Given the description of an element on the screen output the (x, y) to click on. 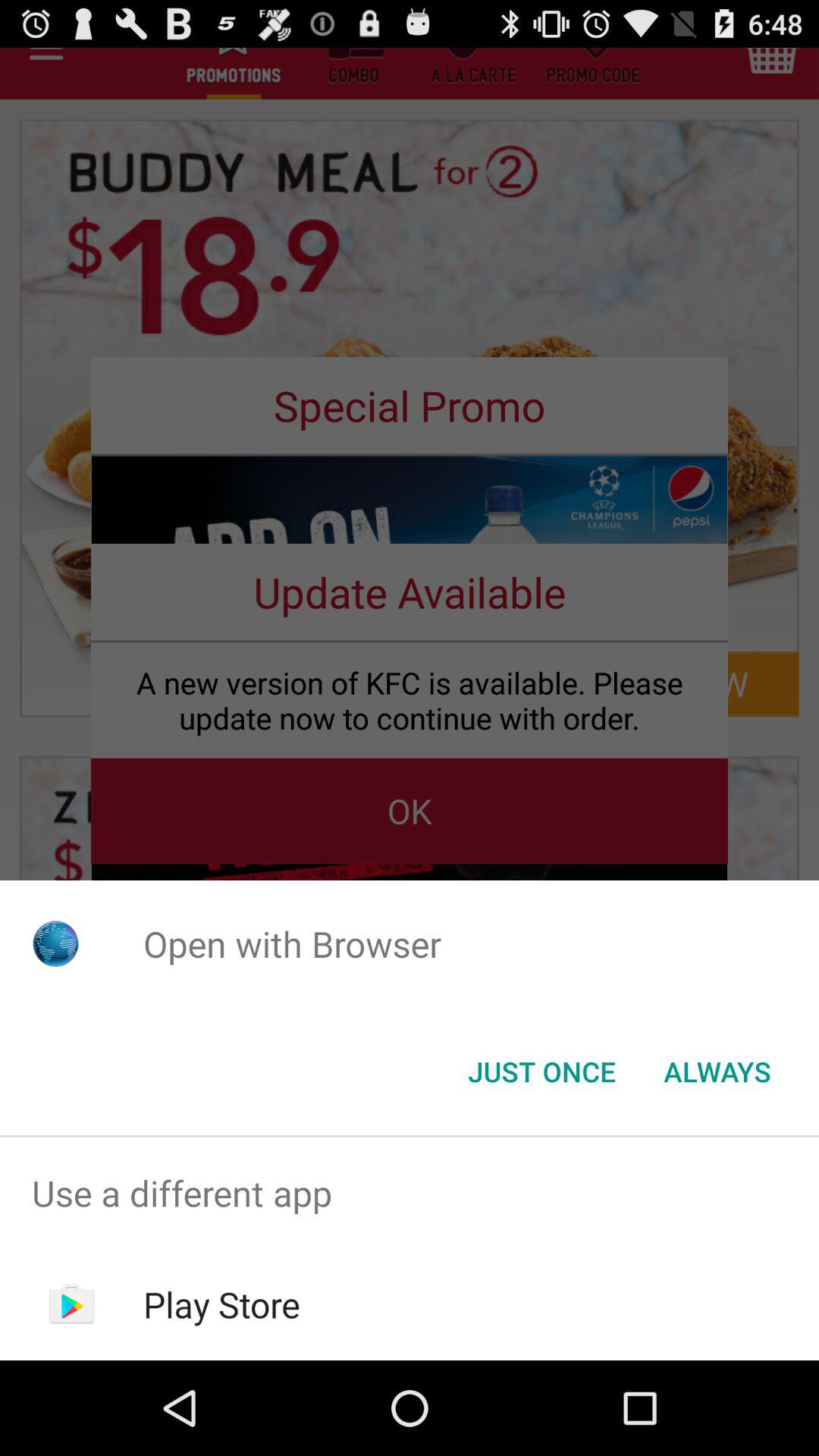
choose item next to the just once icon (717, 1071)
